Given the description of an element on the screen output the (x, y) to click on. 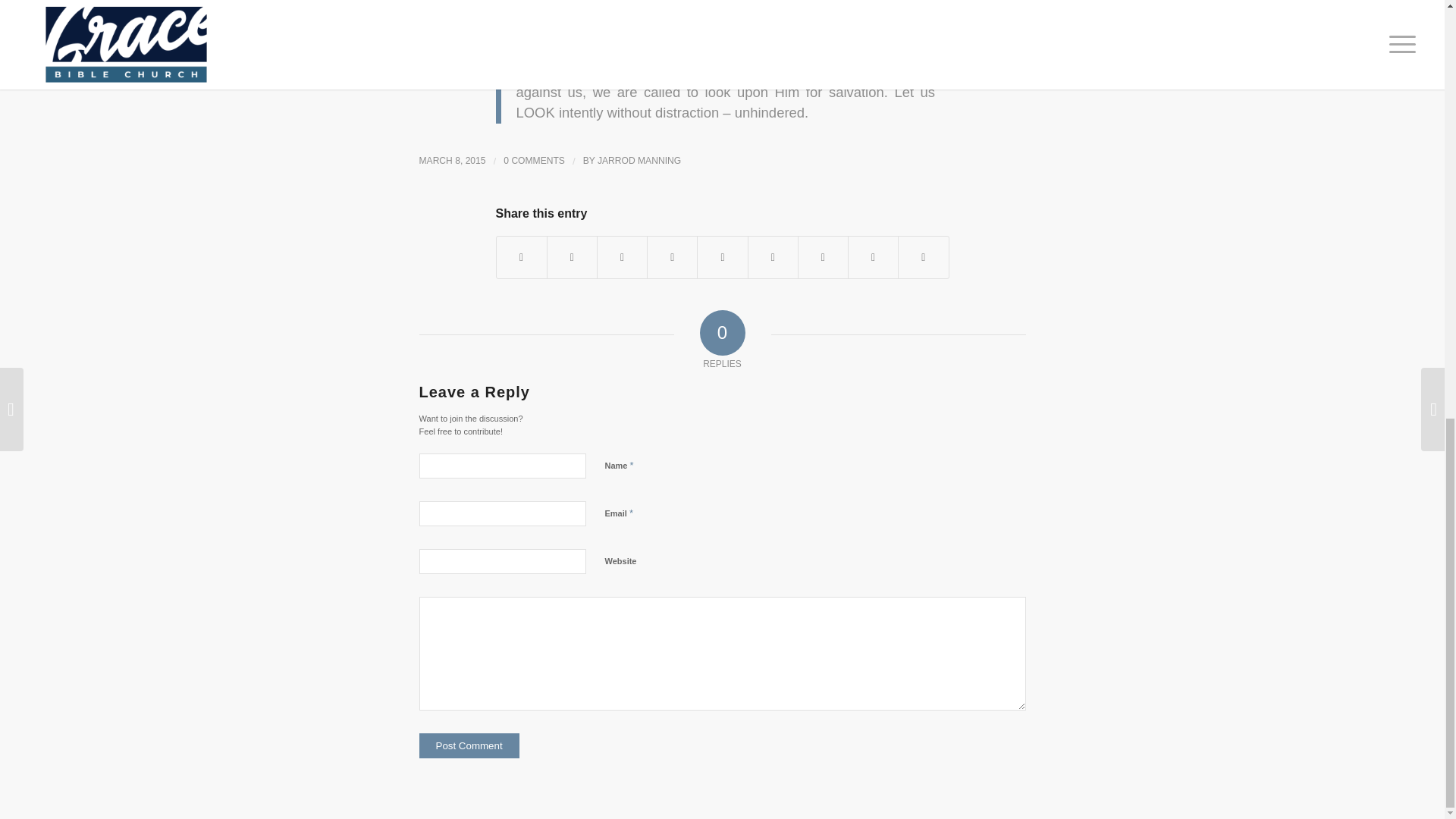
Post Comment (468, 745)
0 COMMENTS (533, 160)
Post Comment (468, 745)
JARROD MANNING (638, 160)
Posts by Jarrod Manning (638, 160)
